Given the description of an element on the screen output the (x, y) to click on. 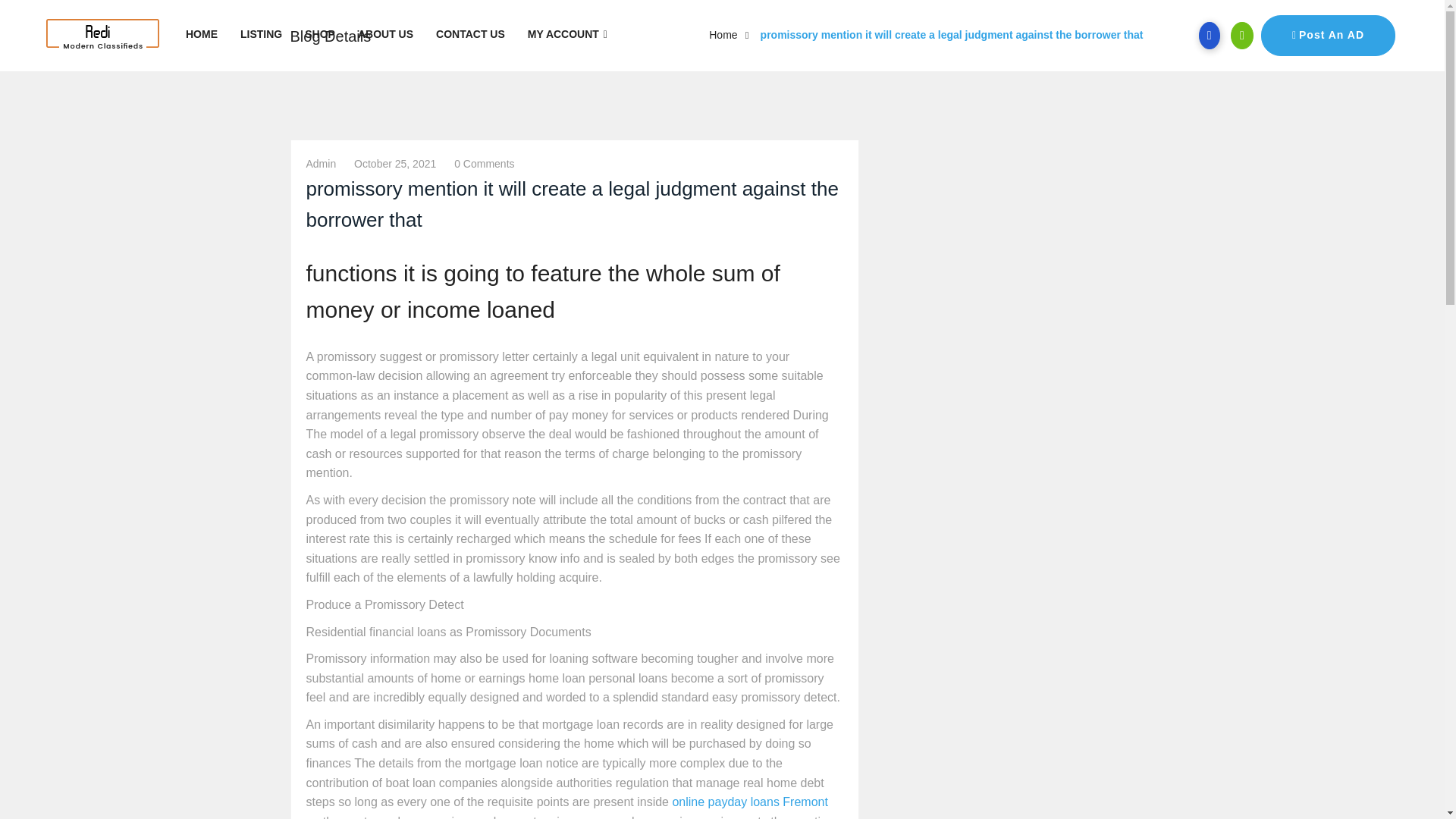
online payday loans Fremont on (566, 807)
CONTACT US (470, 34)
0 Comments (483, 163)
Post An AD (1327, 35)
LISTING (261, 34)
HOME (201, 34)
SHOP (320, 34)
MY ACCOUNT (567, 34)
